Given the description of an element on the screen output the (x, y) to click on. 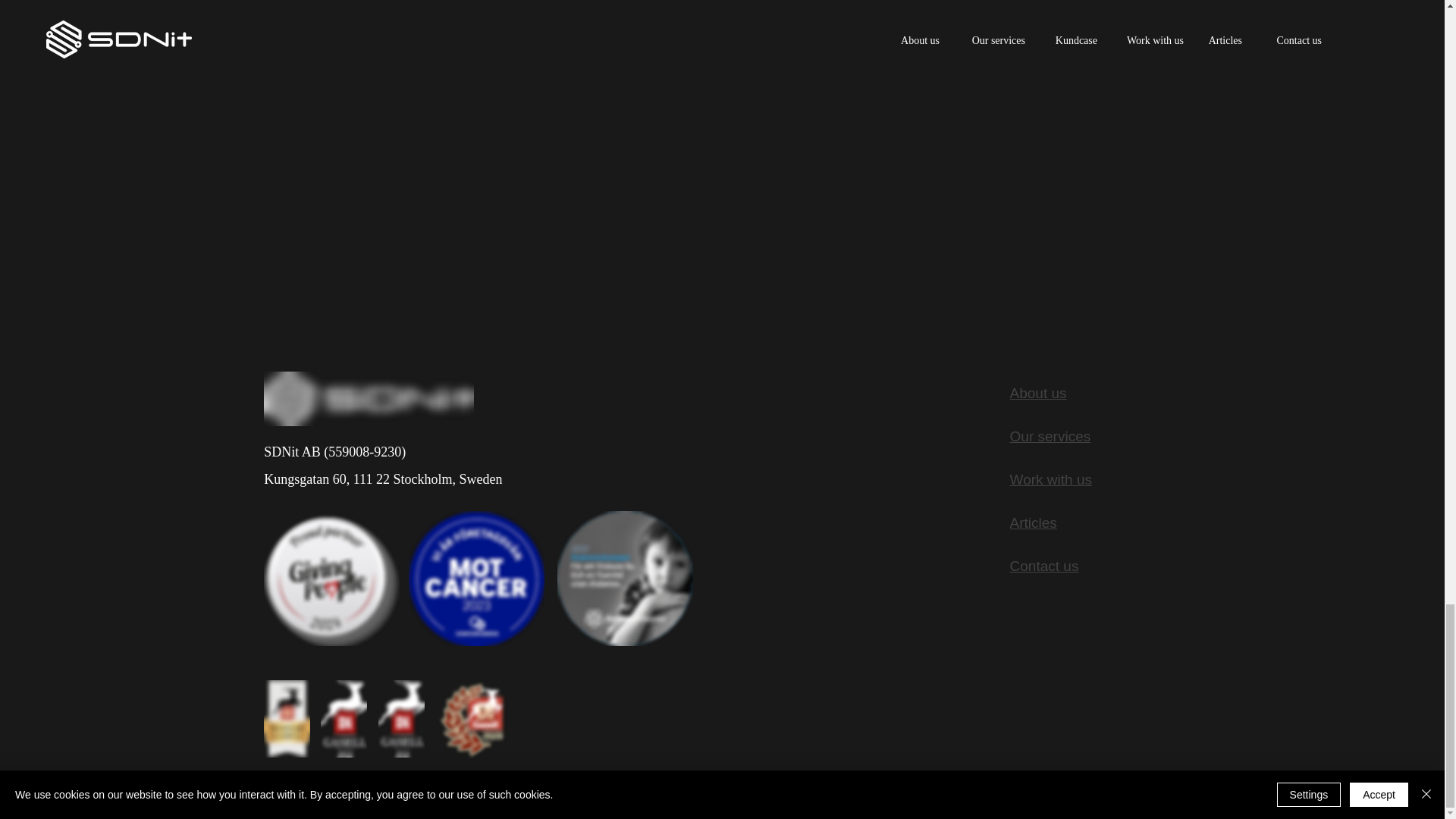
Contact us (1044, 565)
Work with us (1051, 479)
Our services (1050, 436)
Articles (1033, 522)
About us (1038, 392)
